Given the description of an element on the screen output the (x, y) to click on. 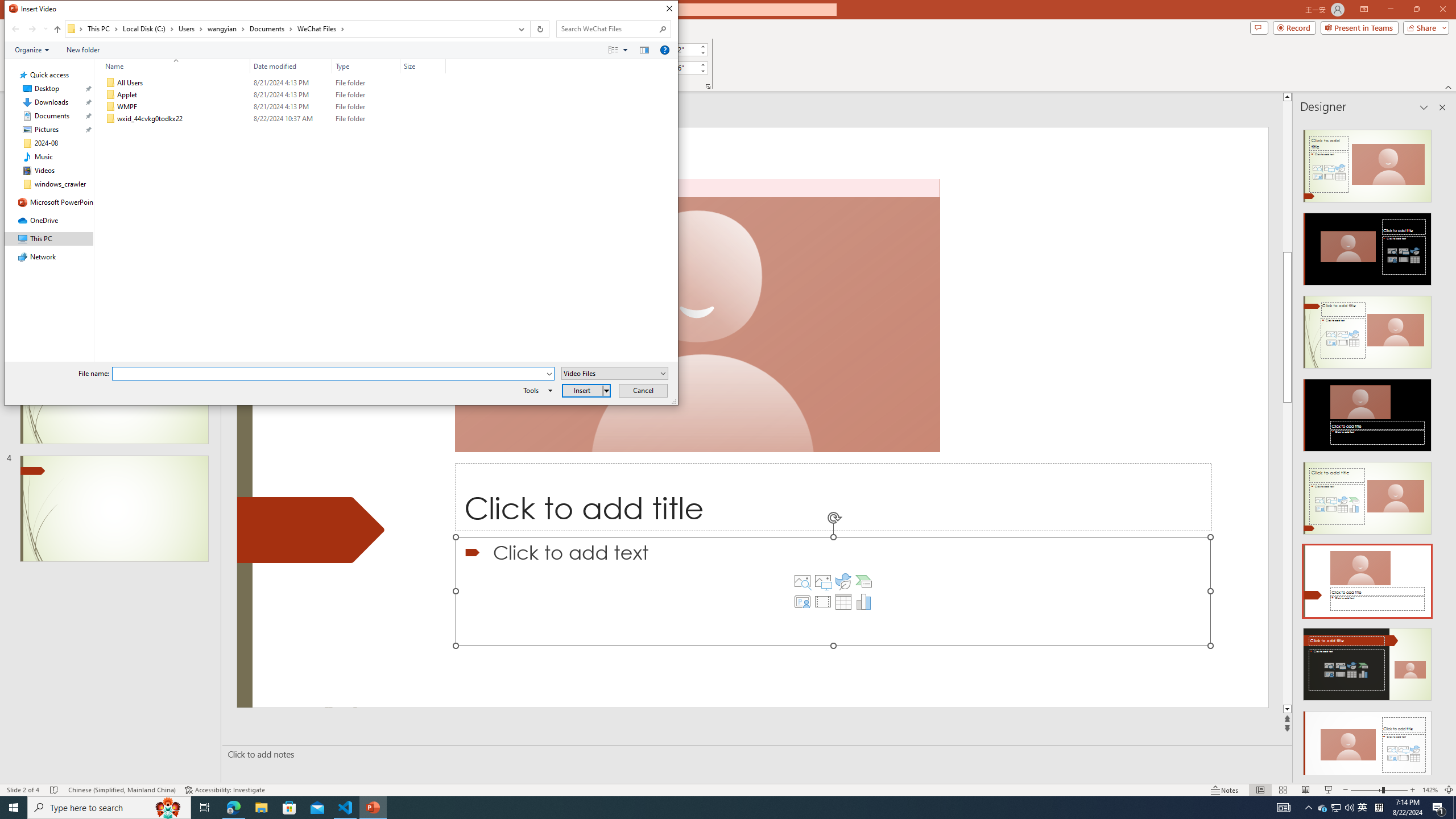
File Explorer (261, 807)
Start (13, 807)
